Given the description of an element on the screen output the (x, y) to click on. 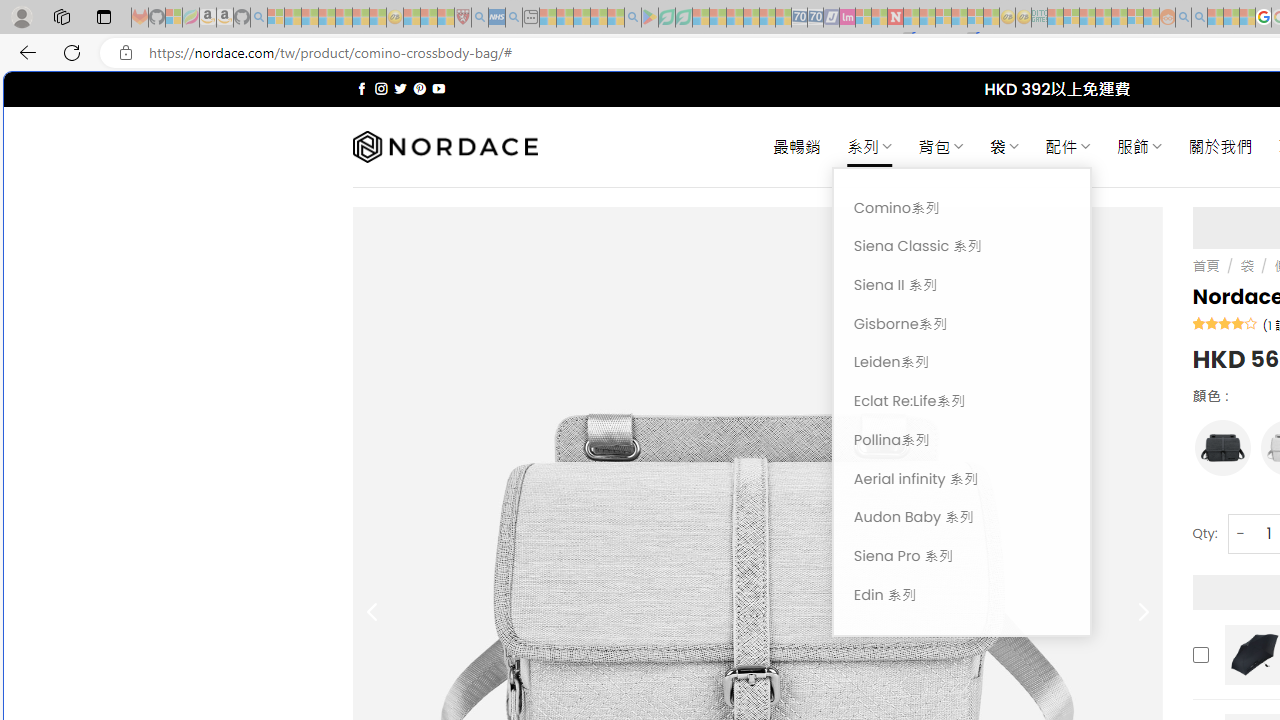
Bluey: Let's Play! - Apps on Google Play - Sleeping (649, 17)
google - Search - Sleeping (632, 17)
Trusted Community Engagement and Contributions | Guidelines (911, 17)
Jobs - lastminute.com Investor Portal - Sleeping (847, 17)
DITOGAMES AG Imprint - Sleeping (1039, 17)
Nordace (444, 147)
